Given the description of an element on the screen output the (x, y) to click on. 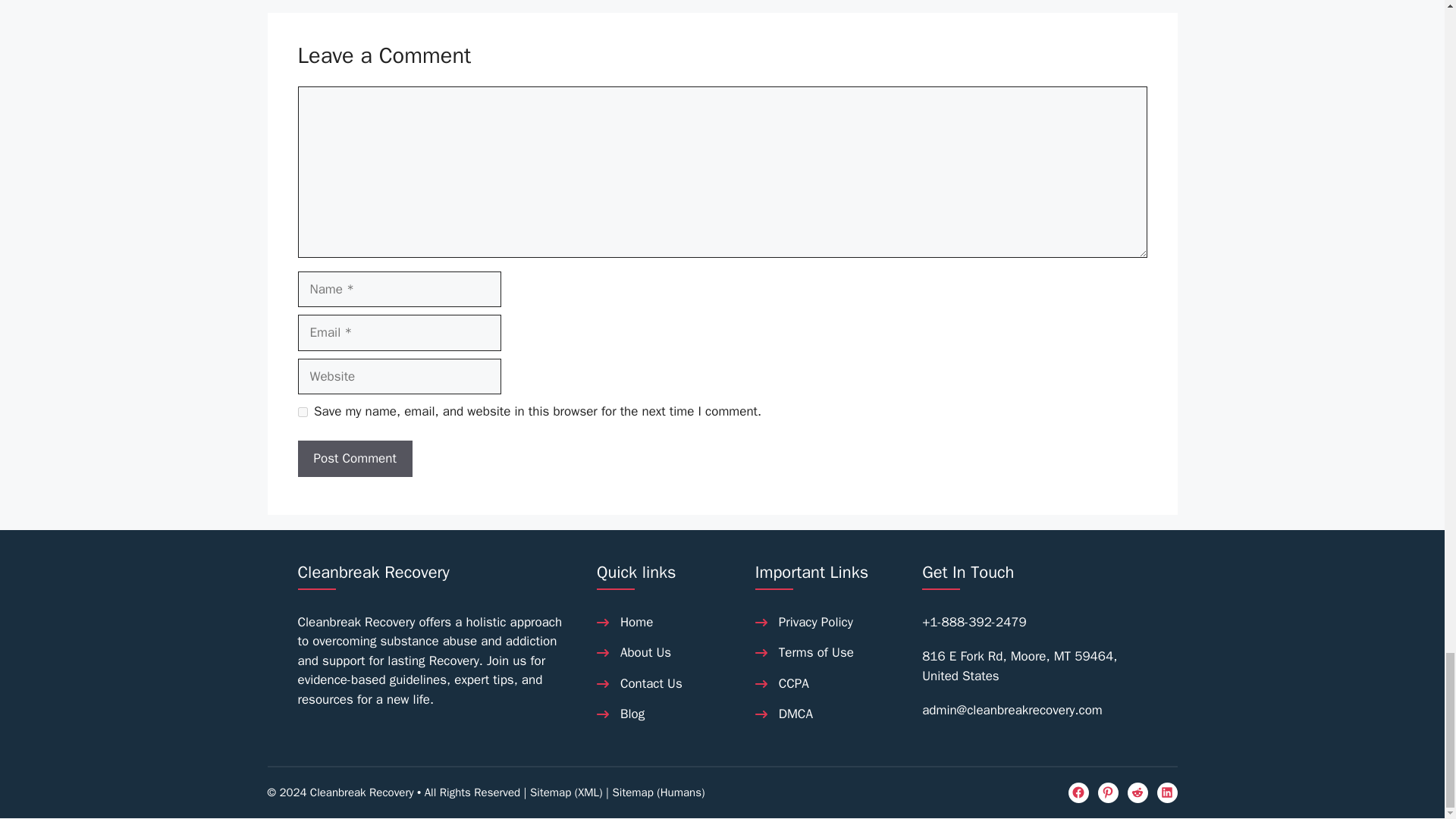
yes (302, 411)
Post Comment (354, 458)
